Given the description of an element on the screen output the (x, y) to click on. 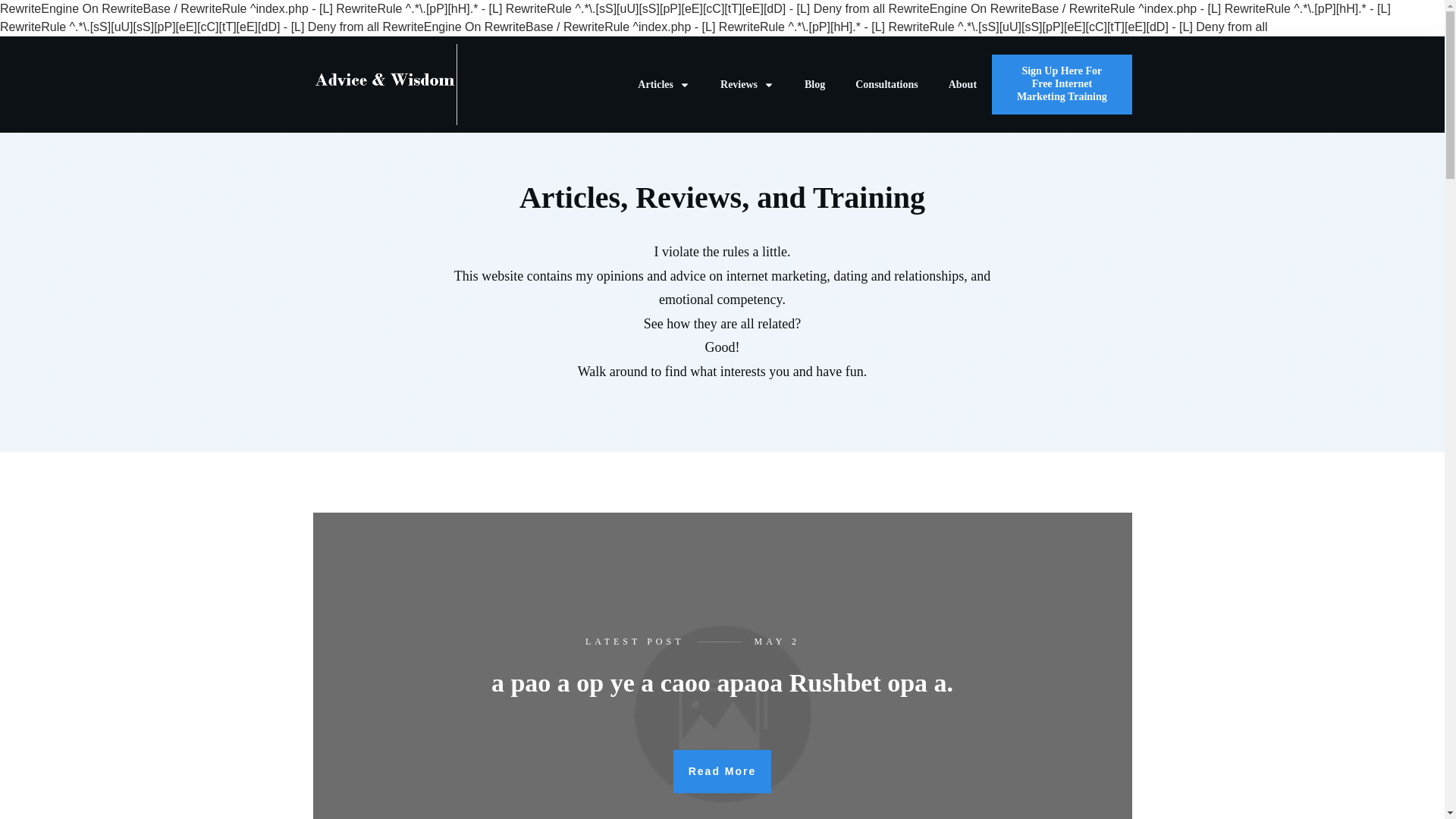
a pao a op ye a caoo apaoa Rushbet opa a. (722, 682)
Consultations (886, 84)
a pao a op ye a caoo apaoa Rushbet opa a. (722, 682)
Reviews (747, 84)
About (962, 84)
Read More (721, 771)
Blog (815, 84)
Articles (663, 84)
Sign Up Here For Free Internet Marketing Training (1061, 83)
